Given the description of an element on the screen output the (x, y) to click on. 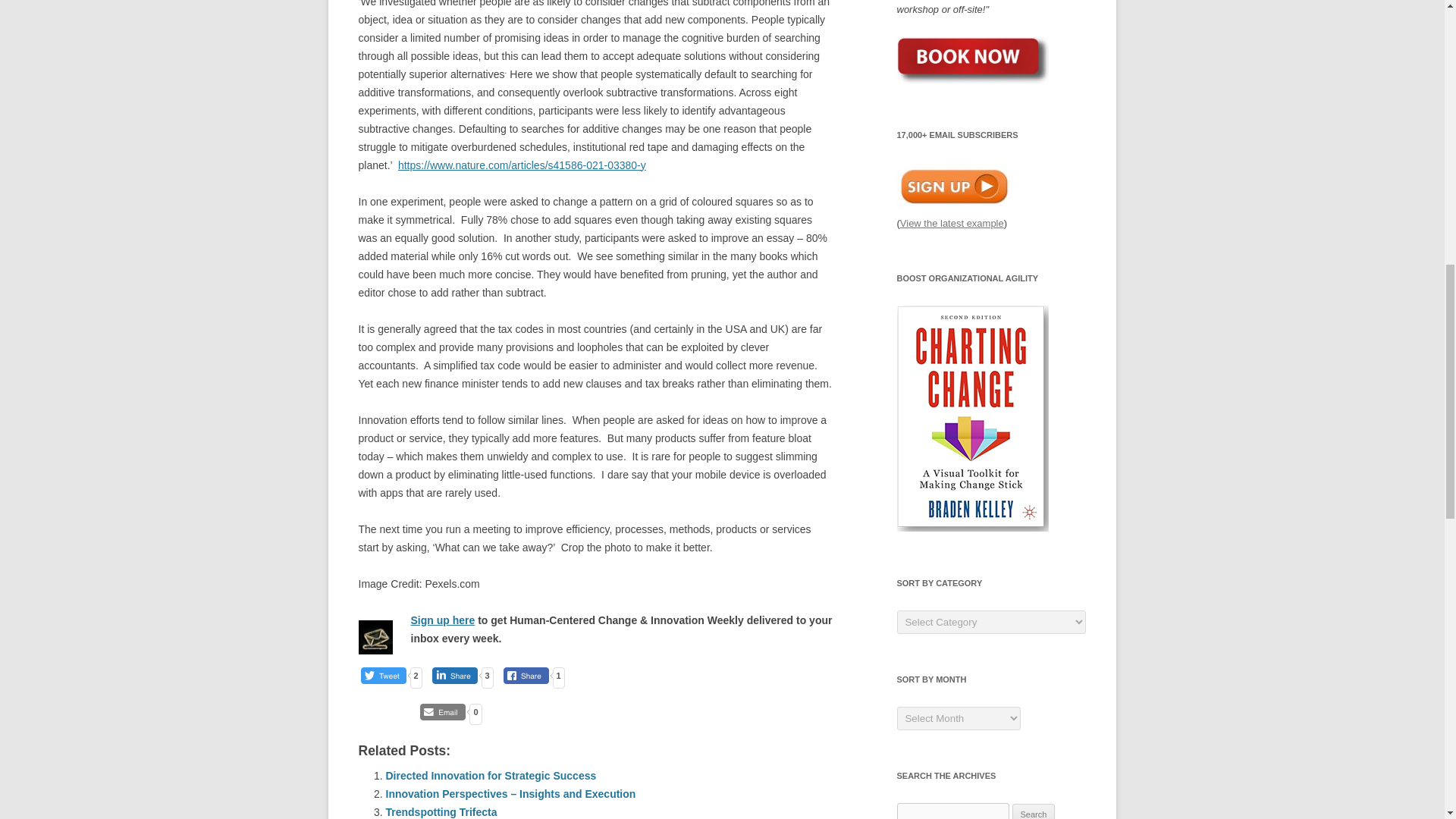
Search (1033, 811)
Sign up for the Braden Kelley Monthly update (953, 185)
Trendspotting Trifecta (440, 811)
Directed Innovation for Strategic Success (490, 775)
